Given the description of an element on the screen output the (x, y) to click on. 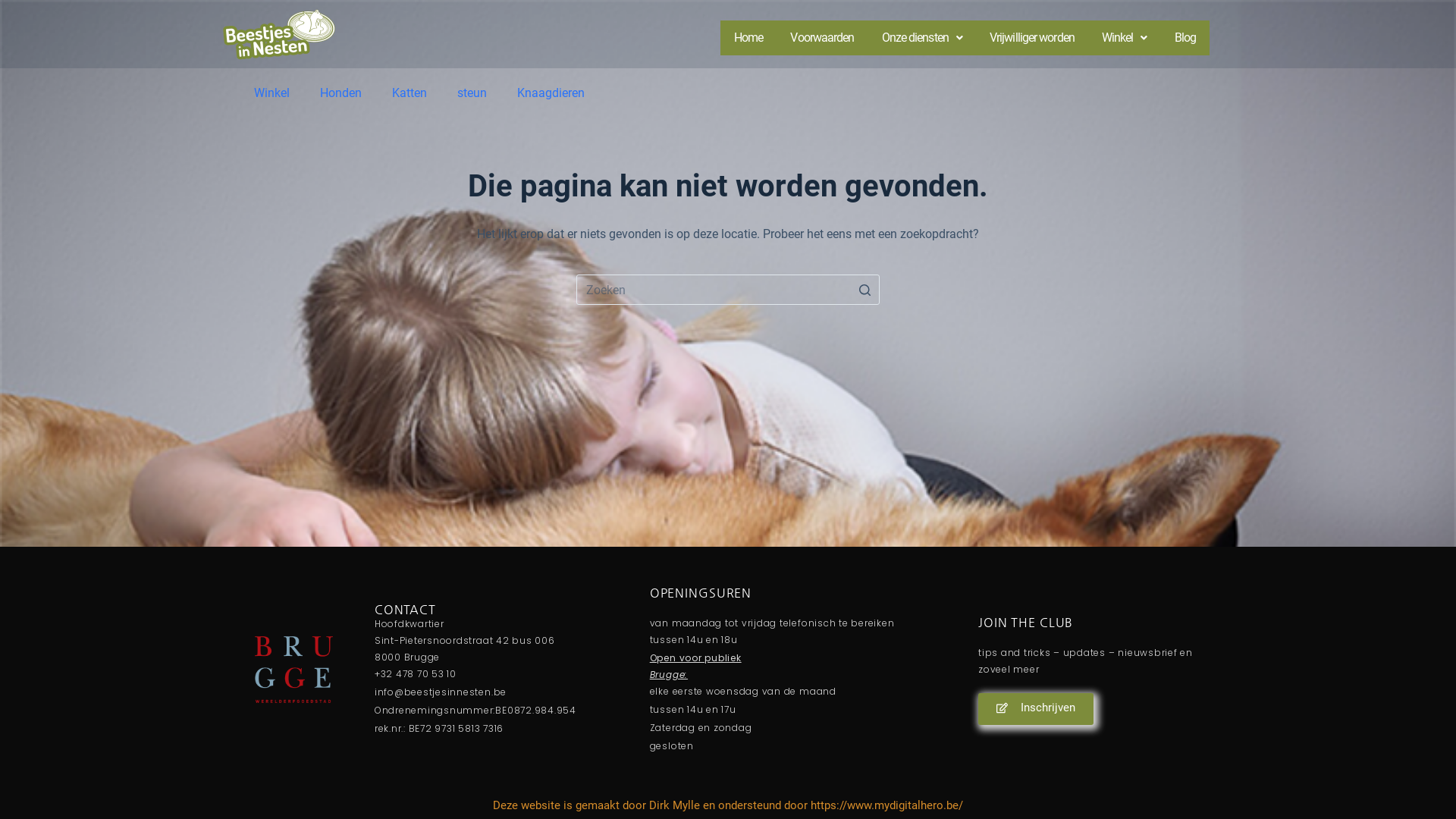
Knaagdieren Element type: text (550, 92)
Inschrijven Element type: text (1035, 708)
Katten Element type: text (409, 92)
Winkel Element type: text (271, 92)
Onze diensten Element type: text (921, 37)
Blog Element type: text (1185, 37)
Voorwaarden Element type: text (821, 37)
Honden Element type: text (340, 92)
Winkel Element type: text (1124, 37)
Zoek naar... Element type: hover (727, 289)
Doorgaan naar artikel Element type: text (15, 7)
Vrijwilliger worden Element type: text (1031, 37)
Home Element type: text (748, 37)
steun Element type: text (472, 92)
